Given the description of an element on the screen output the (x, y) to click on. 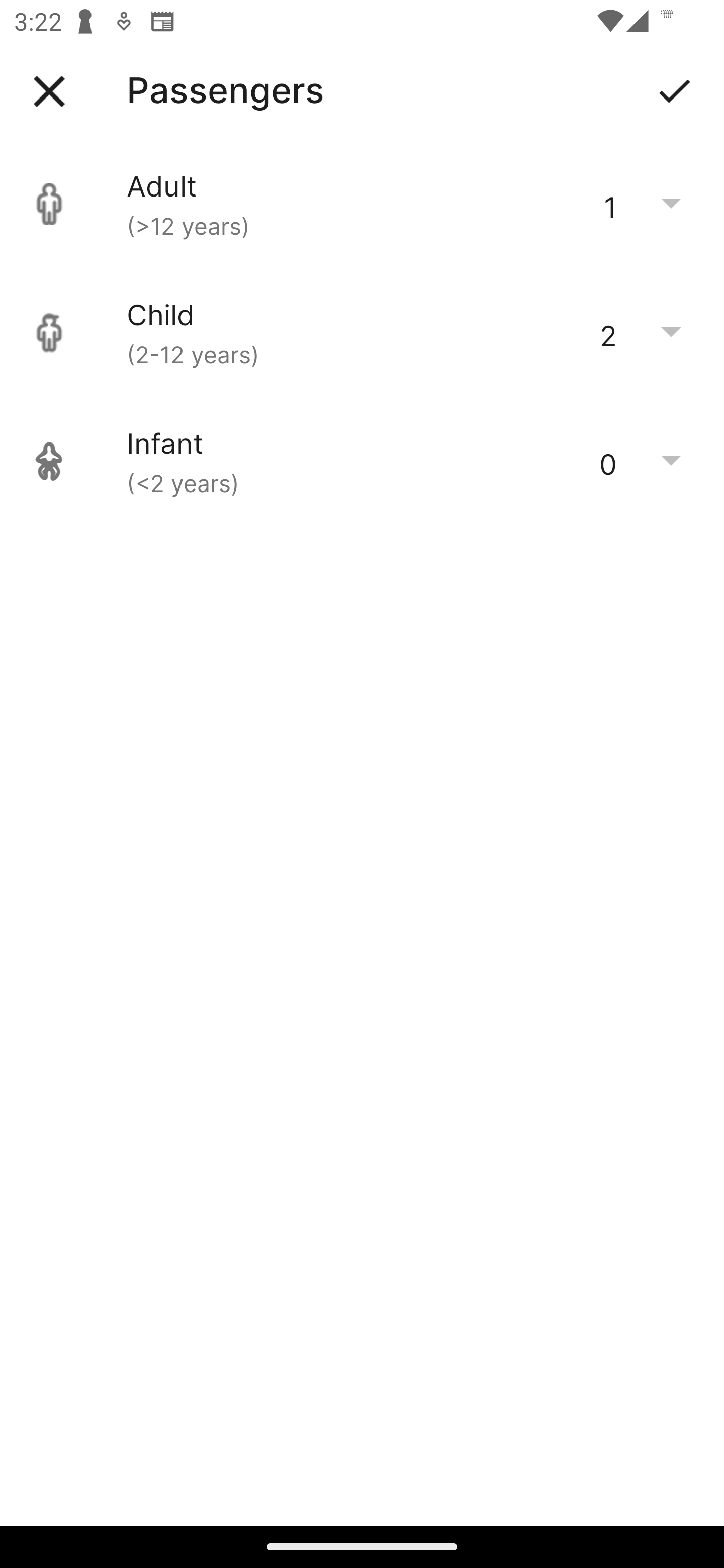
Adult (>12 years) 1 (362, 204)
Child (2-12 years) 2 (362, 332)
Infant (<2 years) 0 (362, 461)
